Given the description of an element on the screen output the (x, y) to click on. 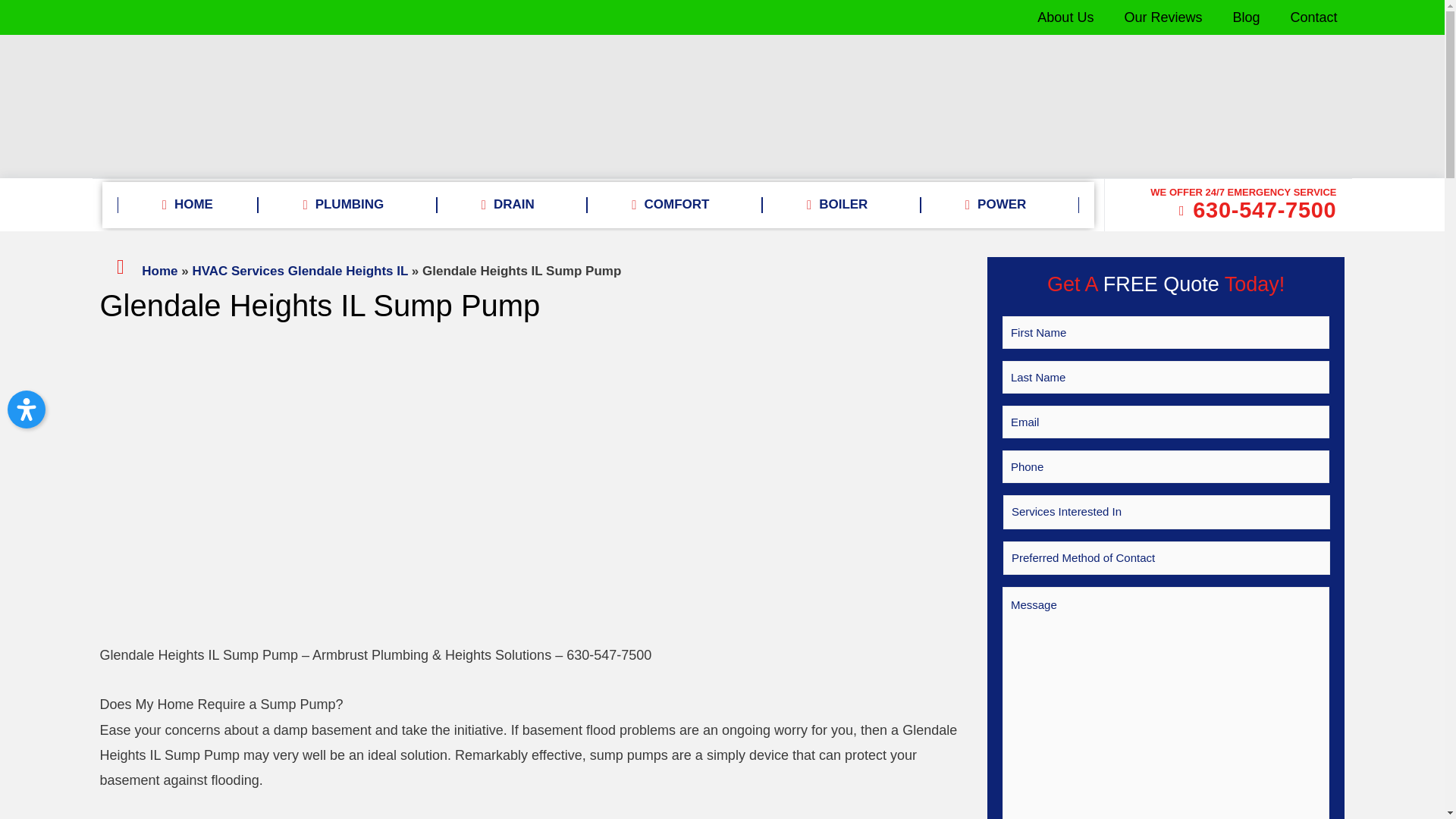
Contact (1313, 17)
About Us (1065, 17)
Blog (1246, 17)
Our Reviews (1162, 17)
